Given the description of an element on the screen output the (x, y) to click on. 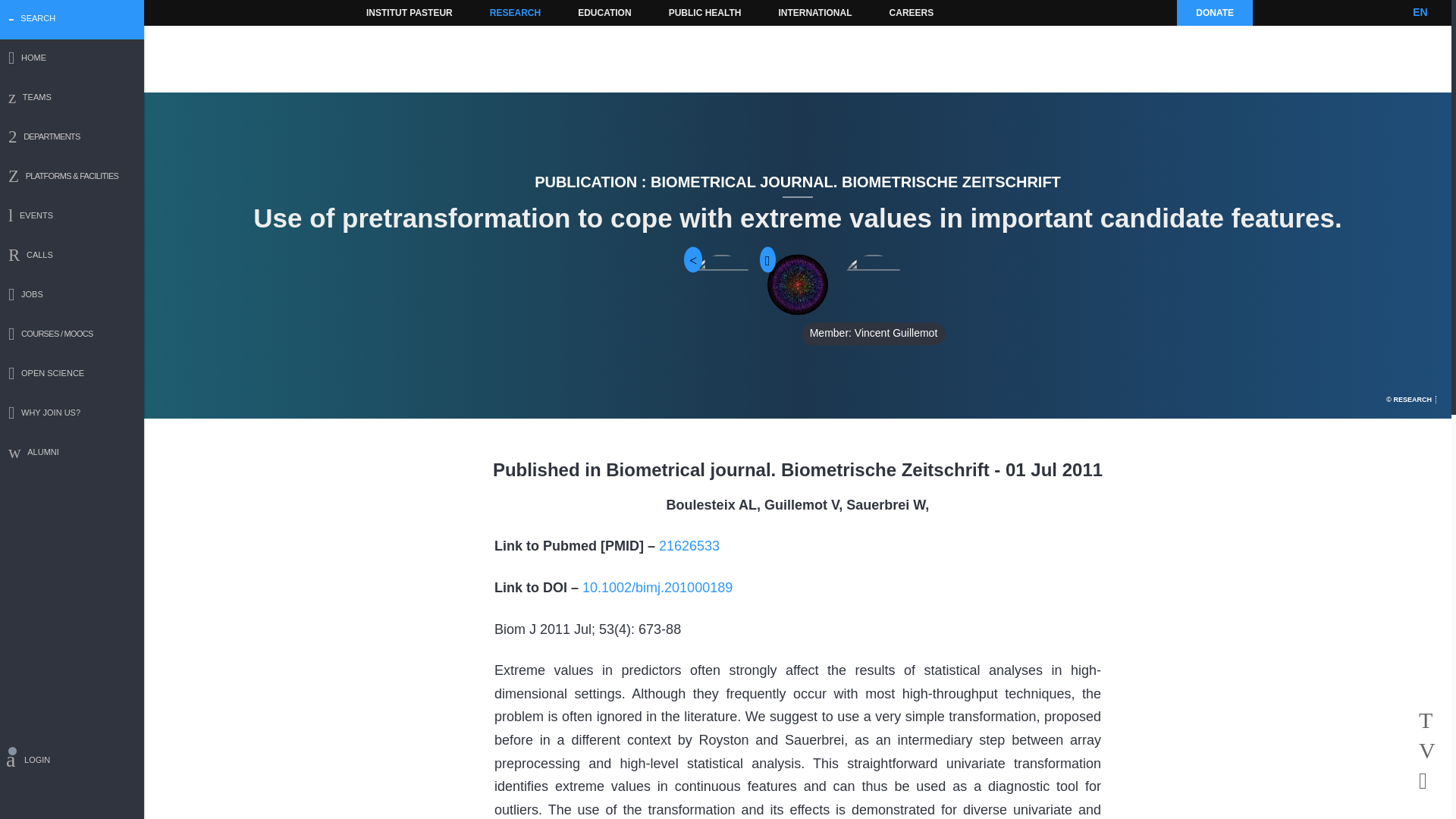
Member: Vincent Guillemot (873, 283)
EN (1419, 11)
LOGIN (72, 762)
21626533 (689, 545)
ALUMNI (72, 454)
EDUCATION (603, 12)
Skip to content (387, 11)
INSTITUT PASTEUR (409, 12)
Skip to content (387, 11)
INTERNATIONAL (814, 12)
